Given the description of an element on the screen output the (x, y) to click on. 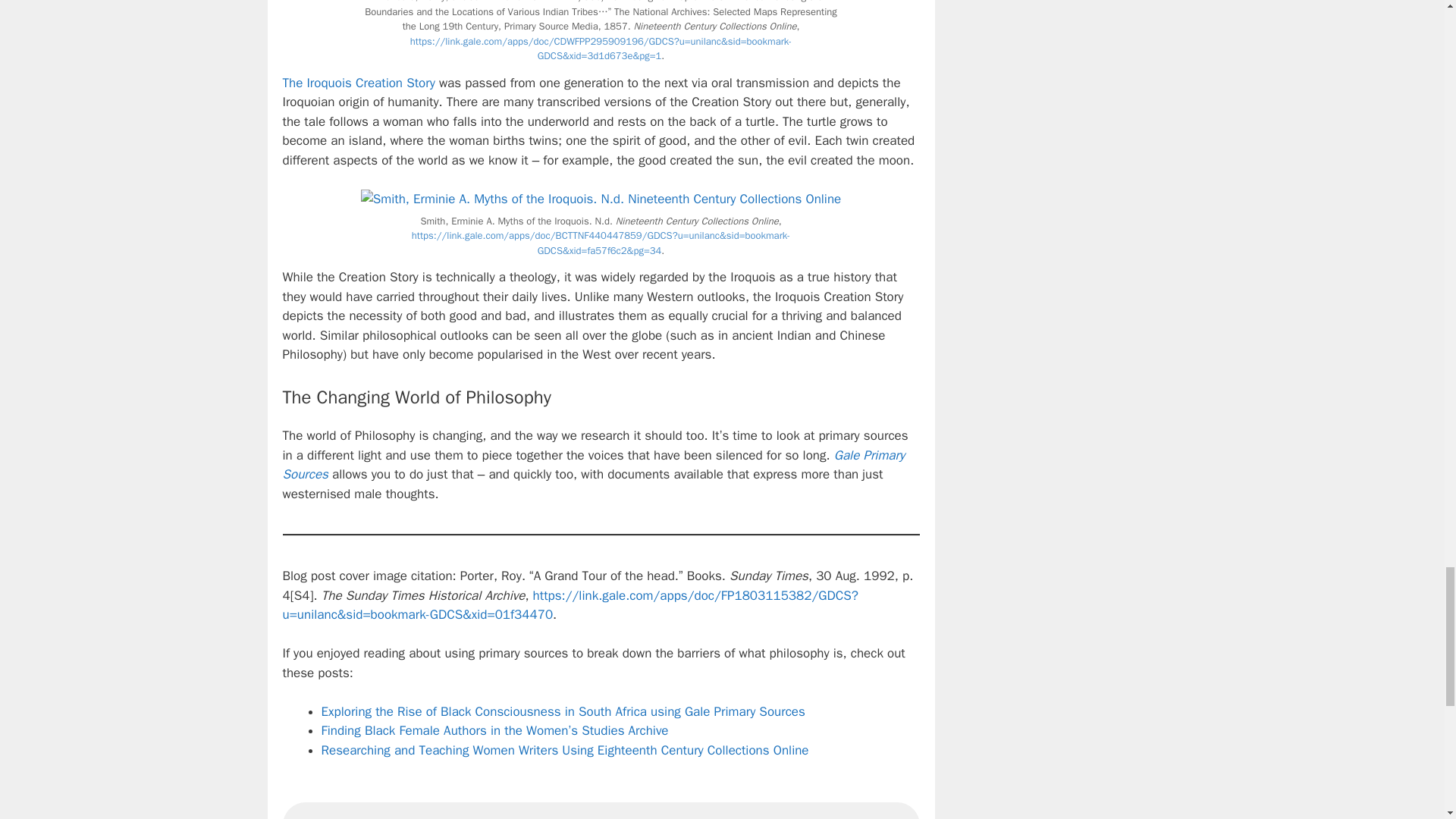
Gale Primary Sources (593, 465)
The Iroquois Creation Story (357, 82)
